Given the description of an element on the screen output the (x, y) to click on. 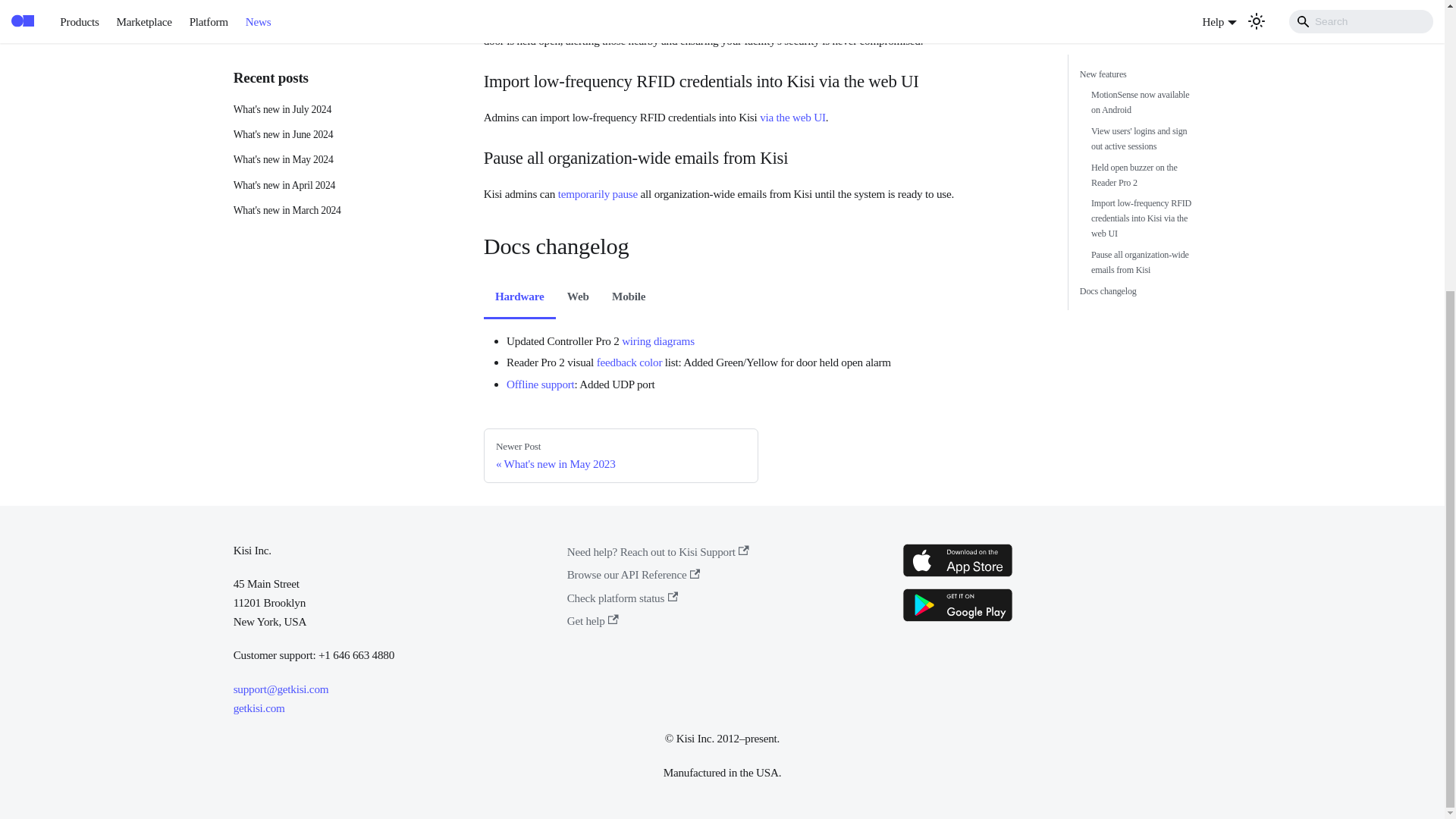
via the web UI (792, 116)
wiring diagrams (657, 340)
Configure reader permissions (611, 21)
temporarily pause (597, 193)
feedback color (629, 361)
Offline support (540, 383)
new reader buzzer (611, 21)
